Given the description of an element on the screen output the (x, y) to click on. 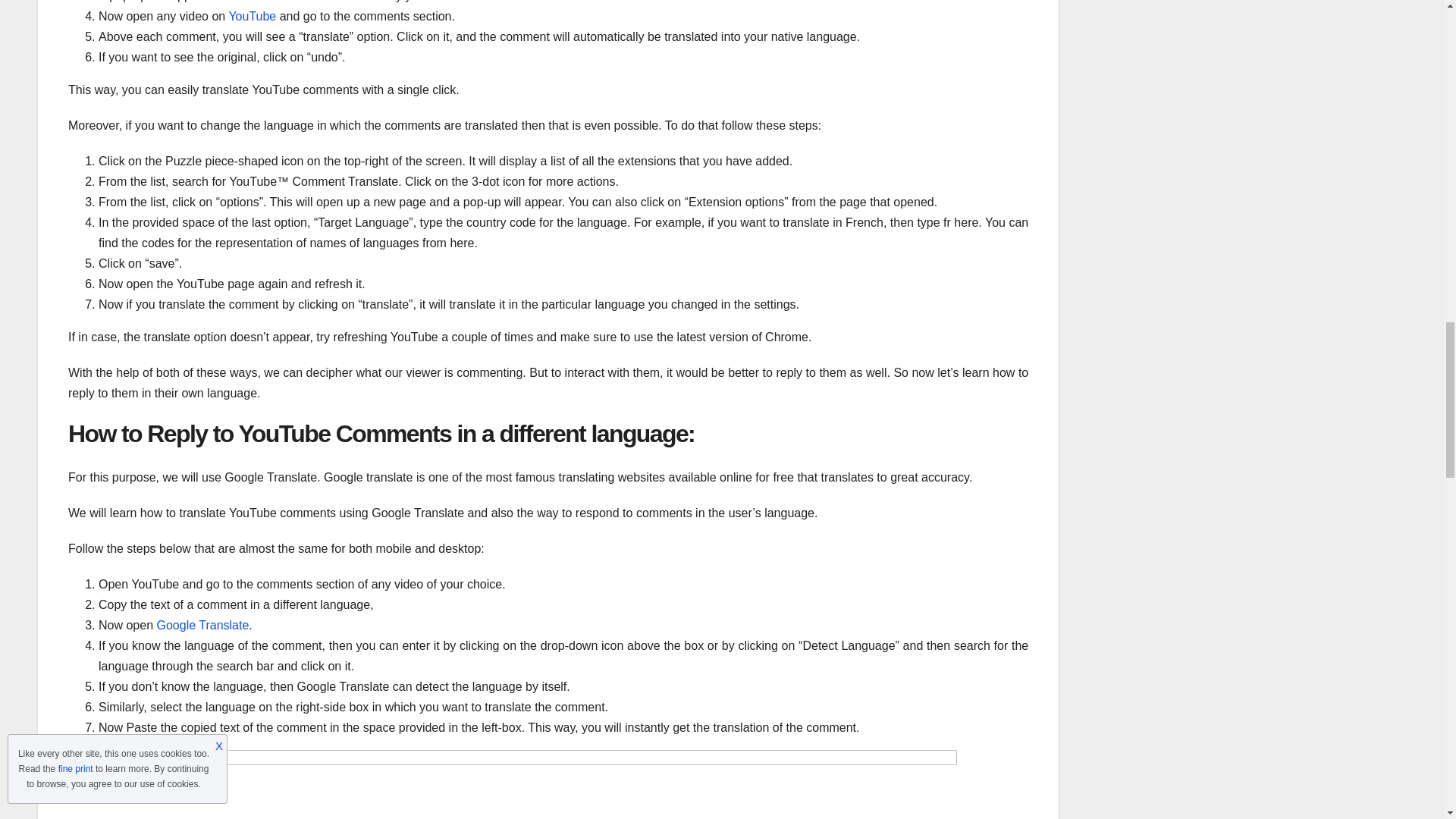
Google Translate (201, 625)
YouTube (252, 15)
